Given the description of an element on the screen output the (x, y) to click on. 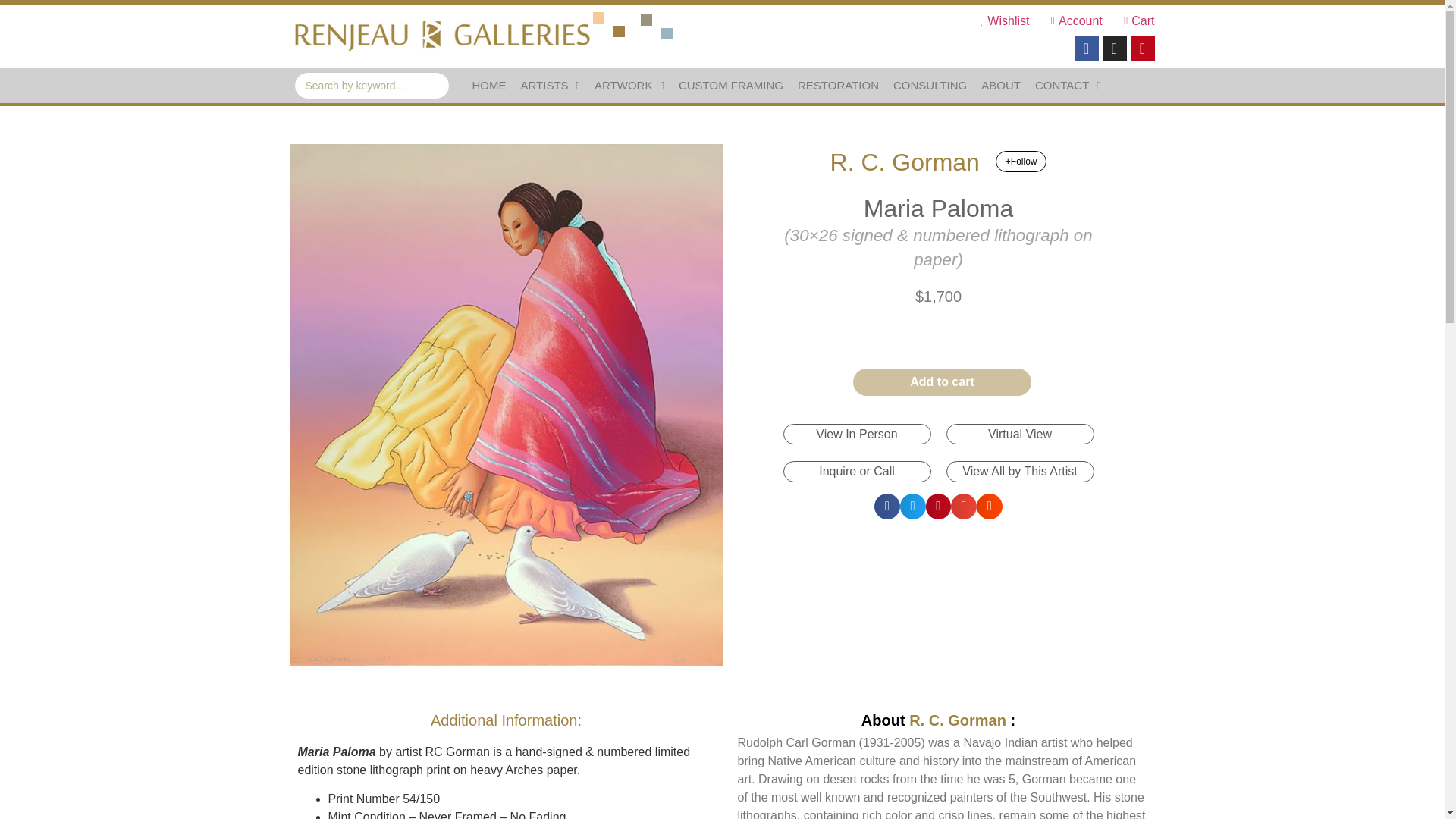
CUSTOM FRAMING (730, 85)
RESTORATION (838, 85)
Wishlist (1000, 21)
Account (1071, 21)
Cart (1134, 21)
ARTISTS (549, 85)
CONSULTING (929, 85)
HOME (488, 85)
ABOUT (1000, 85)
ARTWORK (628, 85)
